Given the description of an element on the screen output the (x, y) to click on. 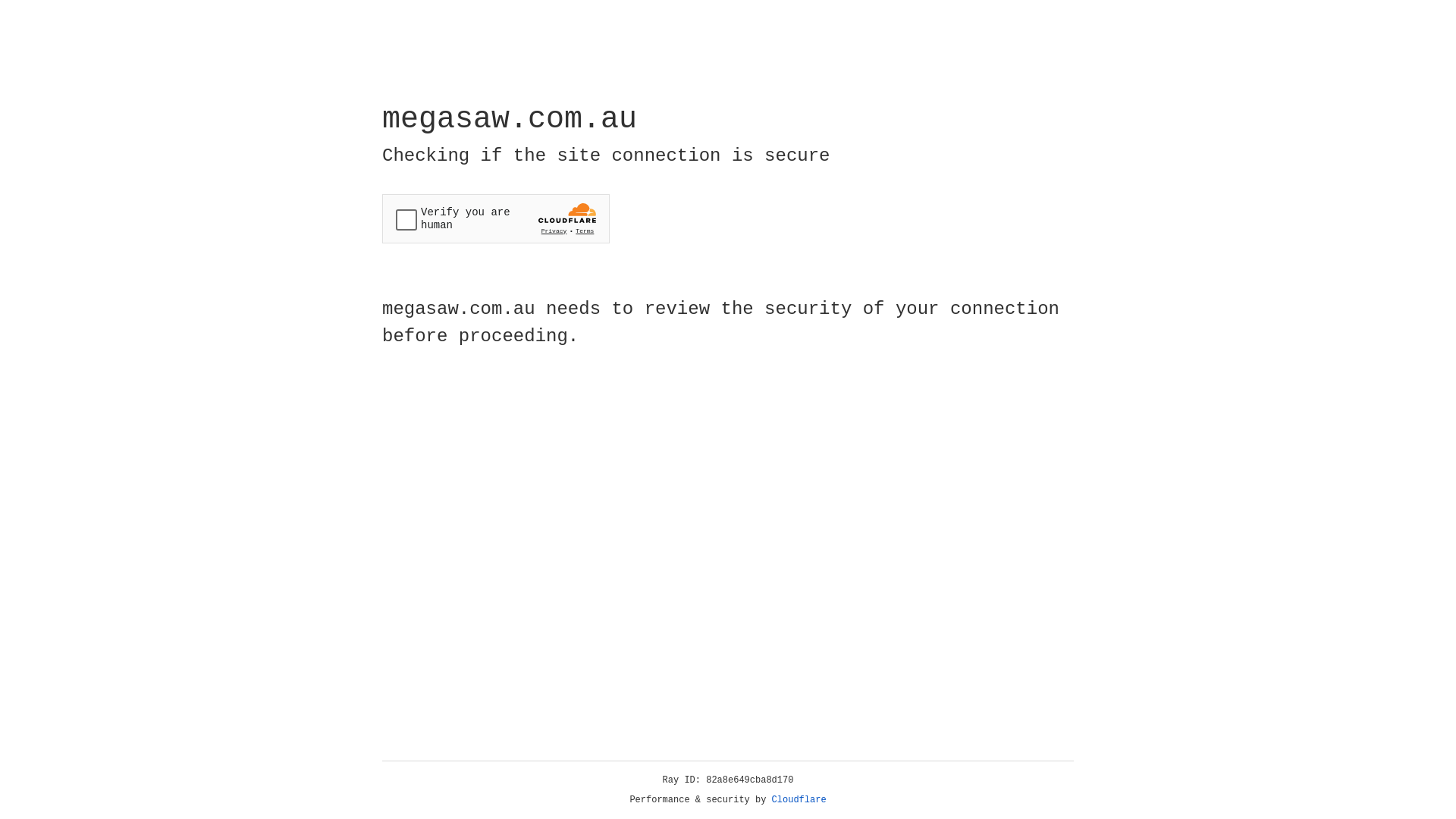
Widget containing a Cloudflare security challenge Element type: hover (495, 218)
Cloudflare Element type: text (798, 799)
